Given the description of an element on the screen output the (x, y) to click on. 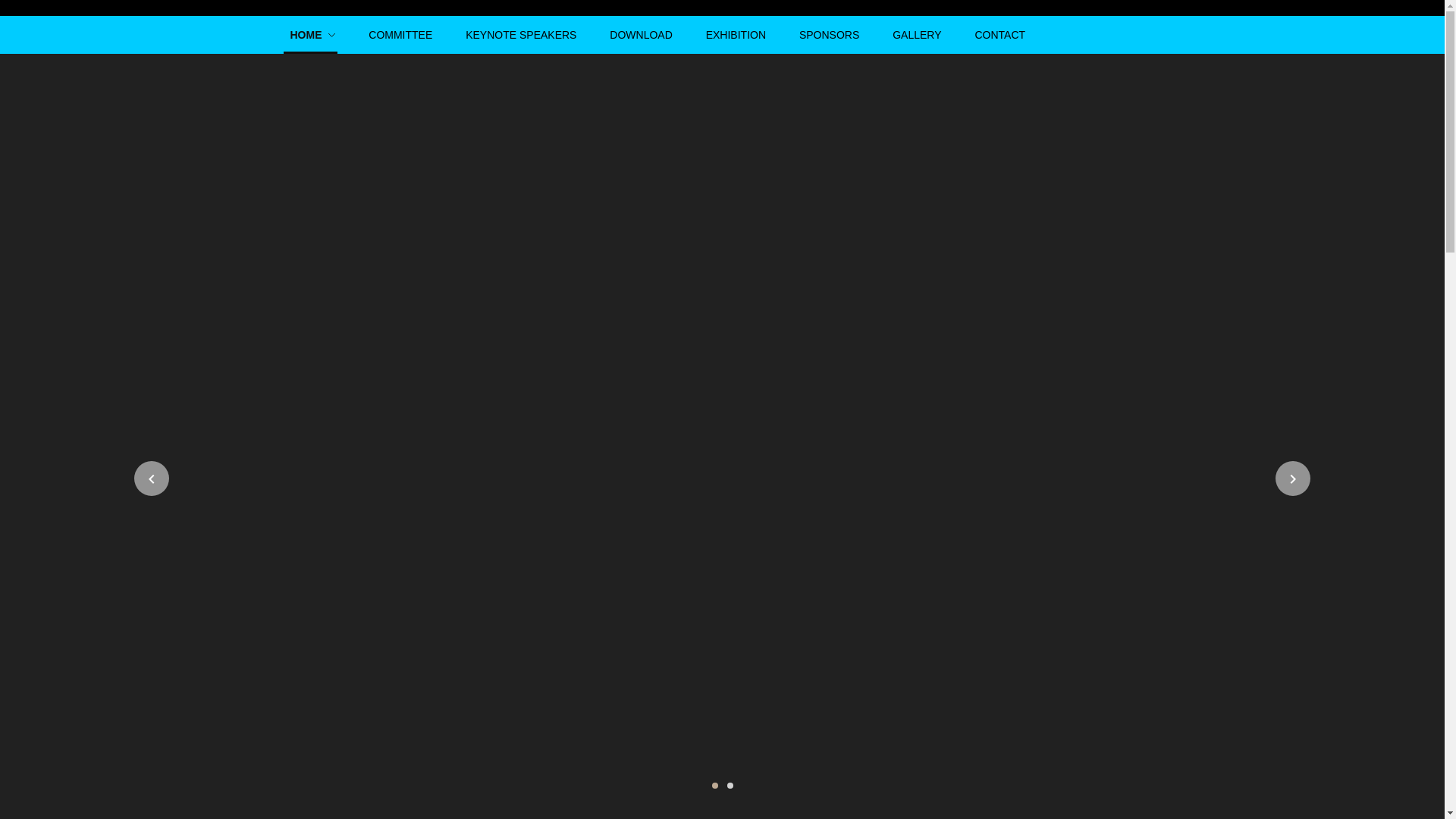
GALLERY (916, 34)
HOME (311, 34)
COMMITTEE (400, 34)
DOWNLOAD (640, 34)
KEYNOTE SPEAKERS (520, 34)
EXHIBITION (735, 34)
CONTACT (999, 34)
SPONSORS (829, 34)
